Given the description of an element on the screen output the (x, y) to click on. 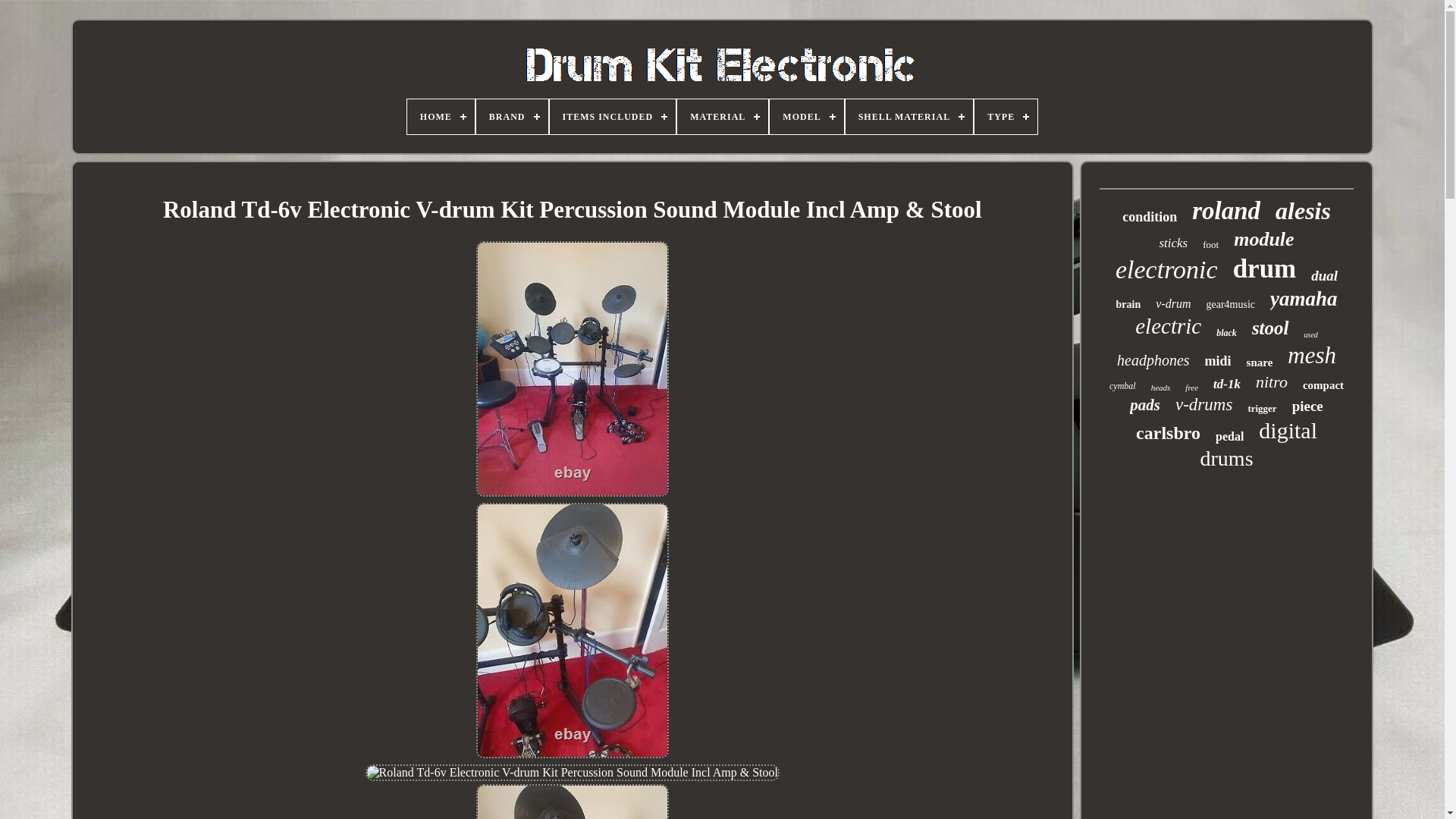
ITEMS INCLUDED (611, 116)
HOME (440, 116)
BRAND (512, 116)
